Given the description of an element on the screen output the (x, y) to click on. 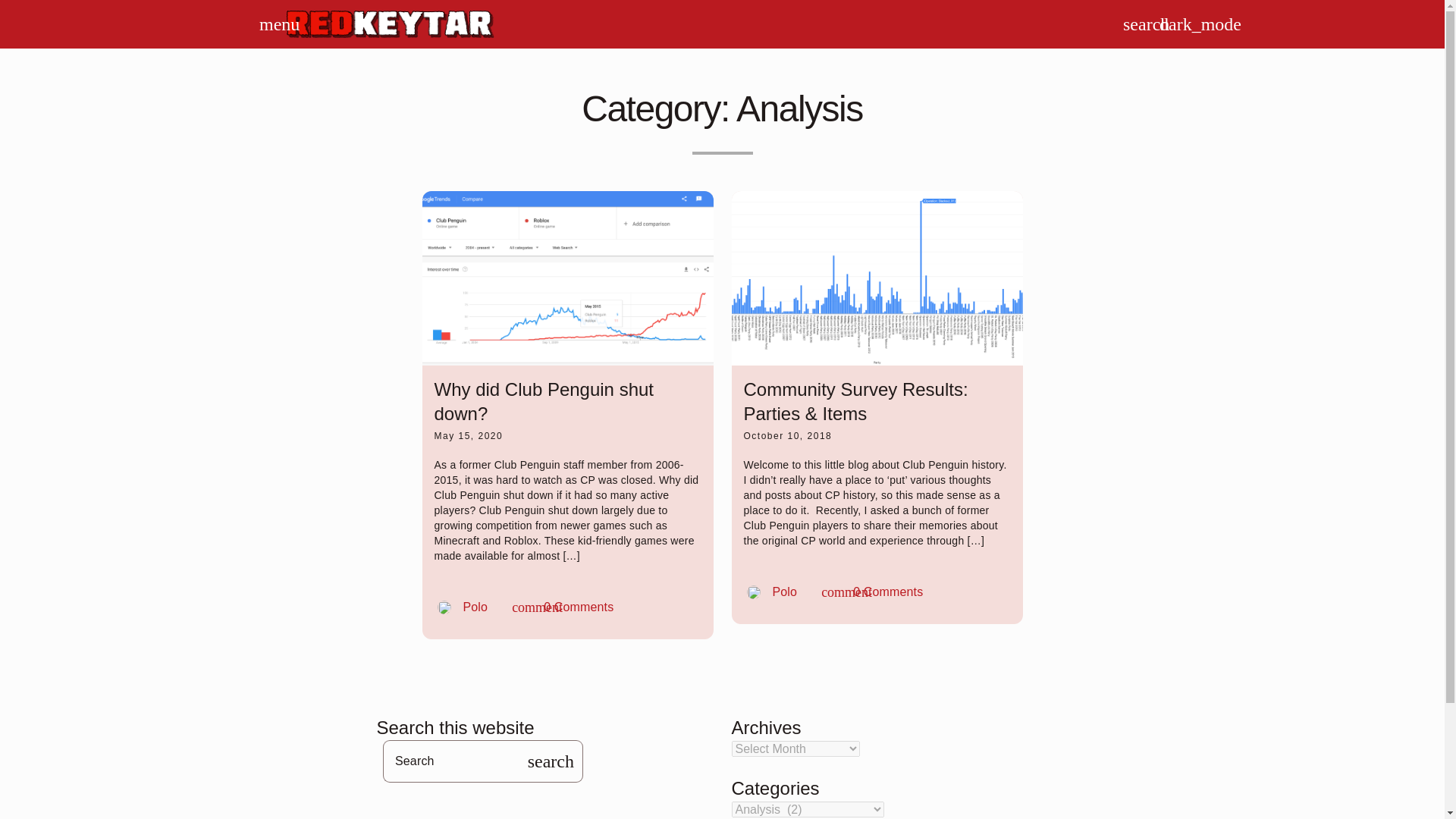
search (1131, 23)
Polo (562, 607)
menu (771, 592)
Polo (268, 23)
